Given the description of an element on the screen output the (x, y) to click on. 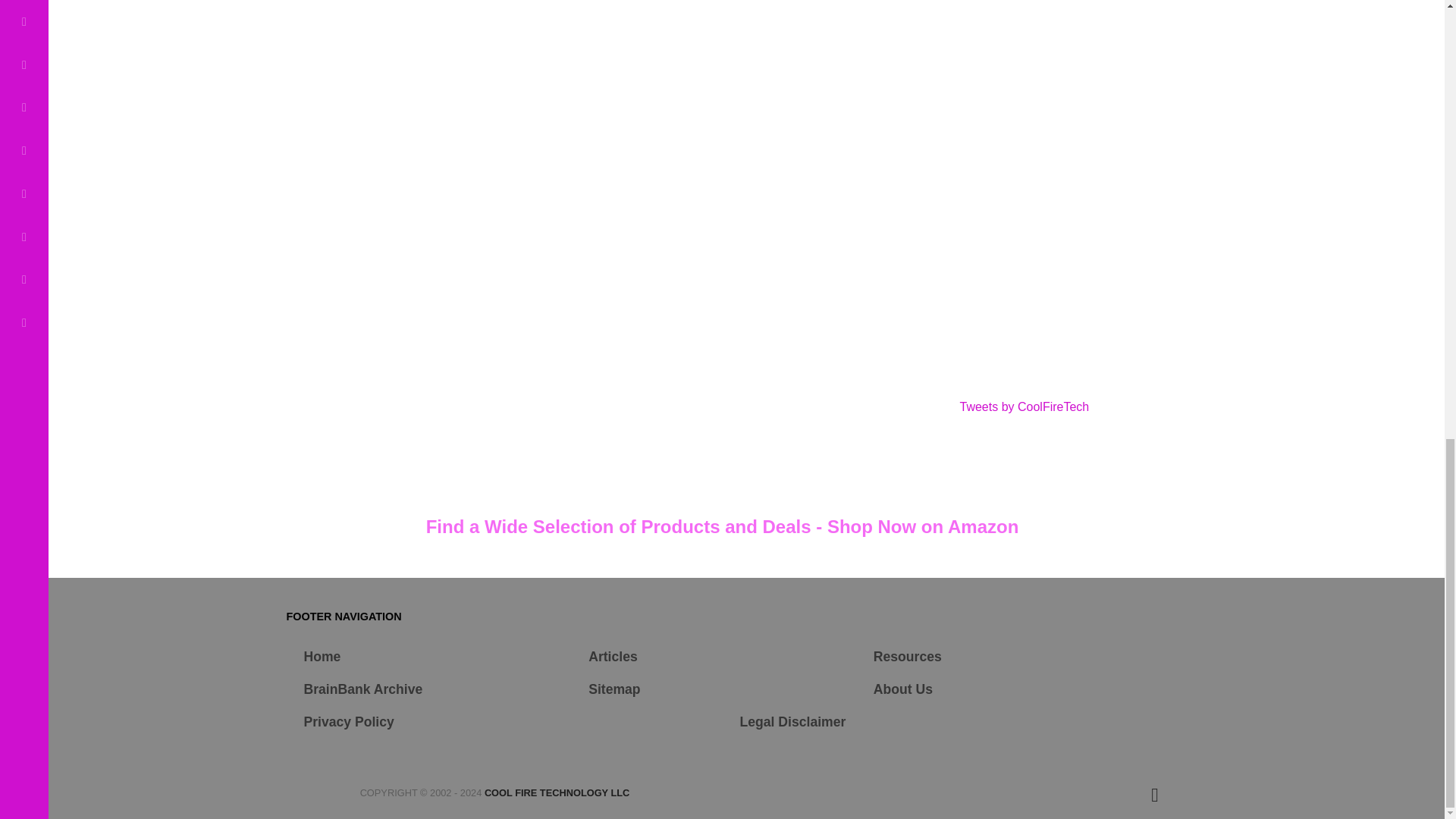
COOL FIRE TECHNOLOGY LLC (557, 792)
Legal Disclaimer (792, 721)
Sitemap (614, 688)
Cool Fire Technology LLC (557, 792)
About Us (903, 688)
Privacy Policy (347, 721)
Home (321, 656)
Articles (612, 656)
BrainBank Archive (362, 688)
